Given the description of an element on the screen output the (x, y) to click on. 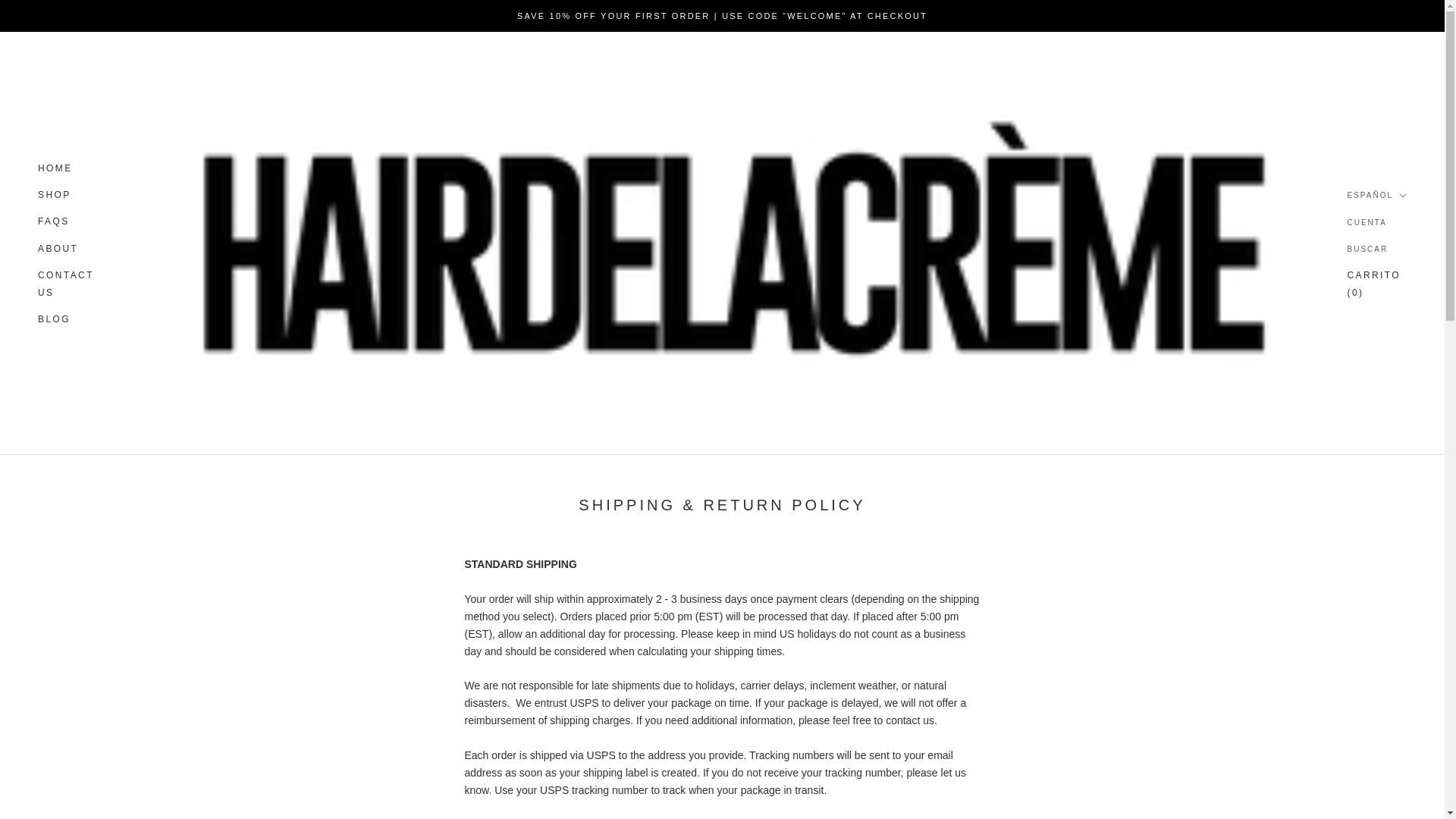
SHOP (54, 167)
